Given the description of an element on the screen output the (x, y) to click on. 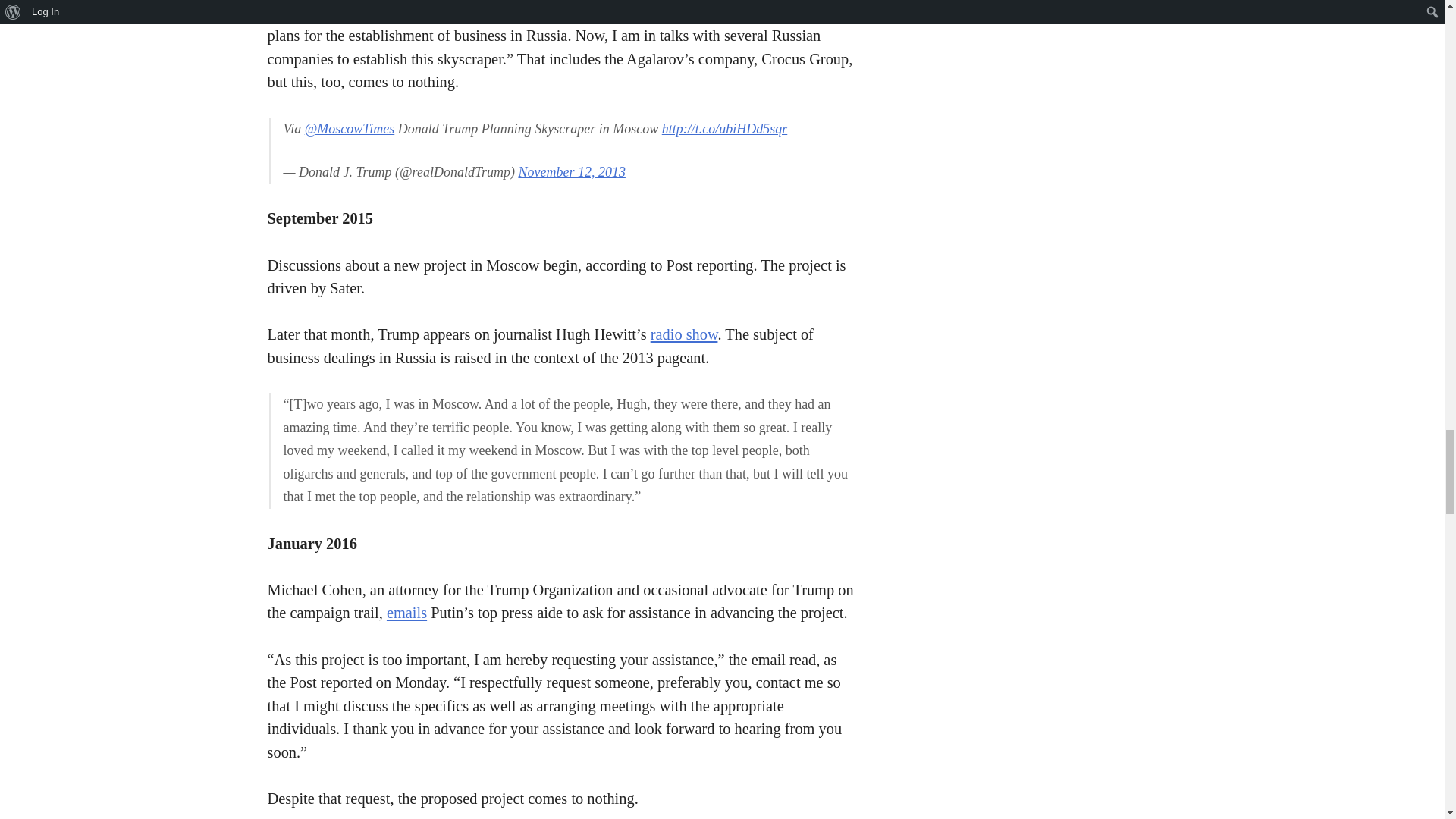
tells (551, 12)
November 12, 2013 (571, 171)
radio show (683, 334)
